Given the description of an element on the screen output the (x, y) to click on. 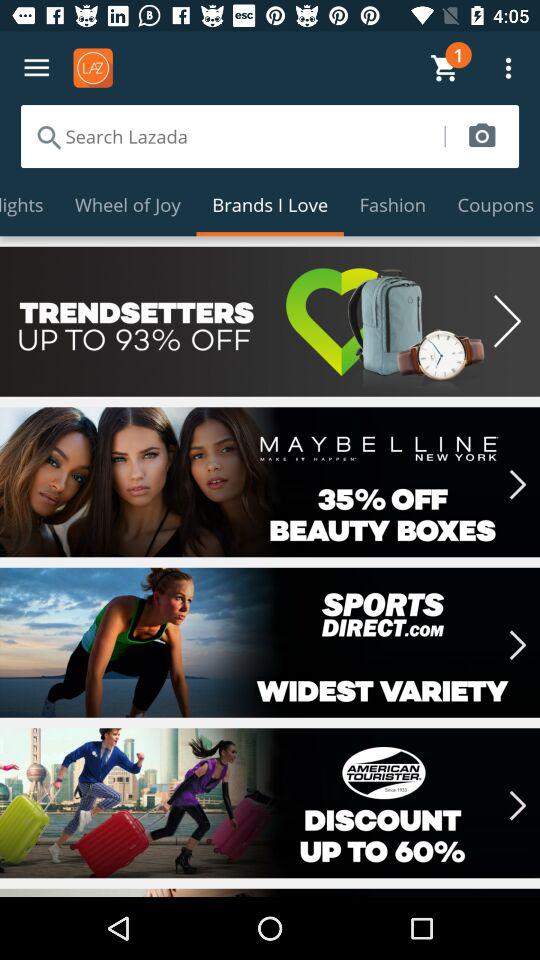
select current option (270, 803)
